Given the description of an element on the screen output the (x, y) to click on. 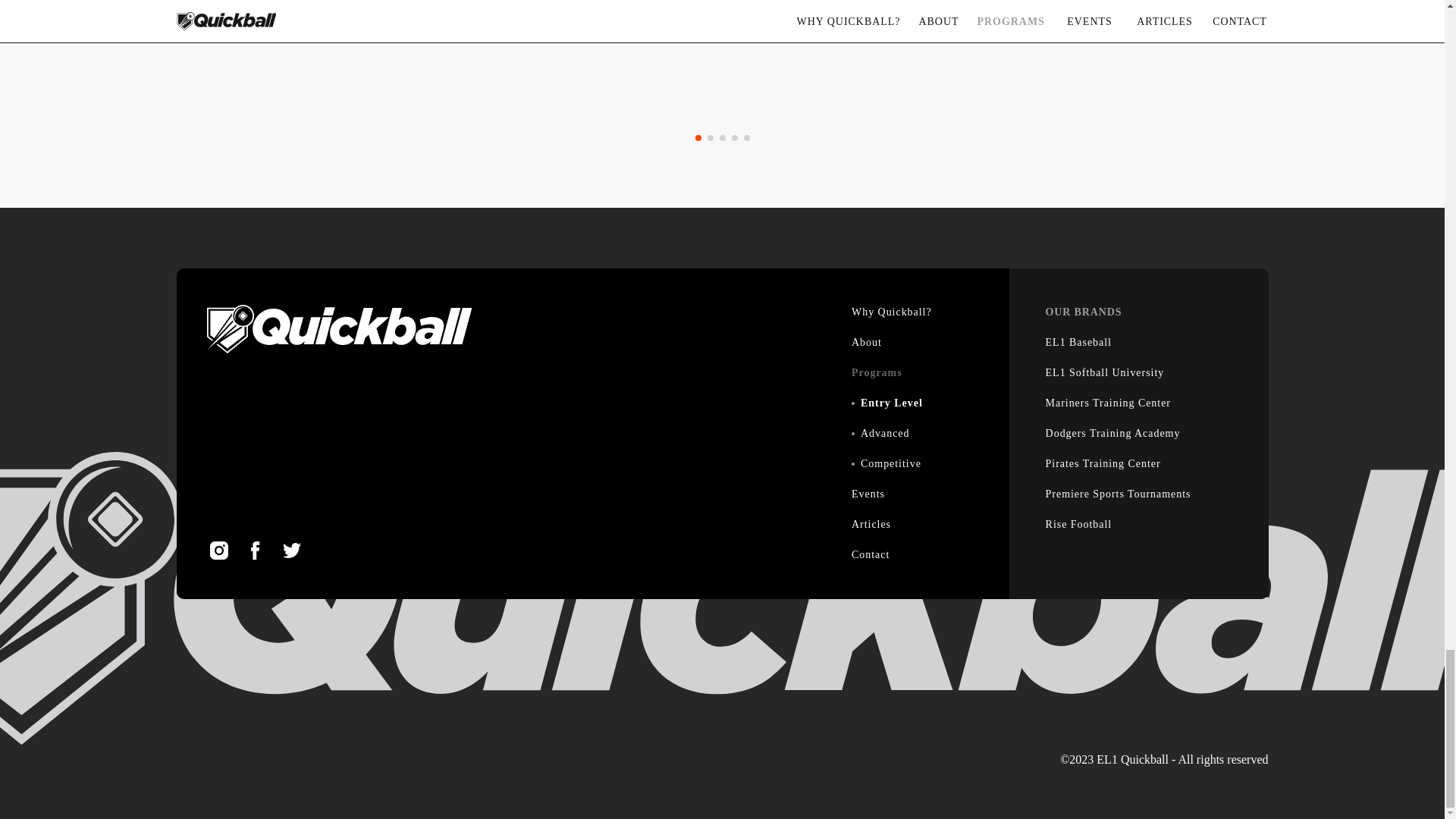
DRAG (60, 177)
Dodgers Training Academy (1112, 433)
Contact (870, 554)
Why Quickball? (891, 312)
EL1 Softball University (1104, 372)
Premiere Sports Tournaments (1118, 494)
EL1 Baseball (1078, 342)
Pirates Training Center (1102, 463)
Events (868, 494)
Competitive (890, 463)
